Given the description of an element on the screen output the (x, y) to click on. 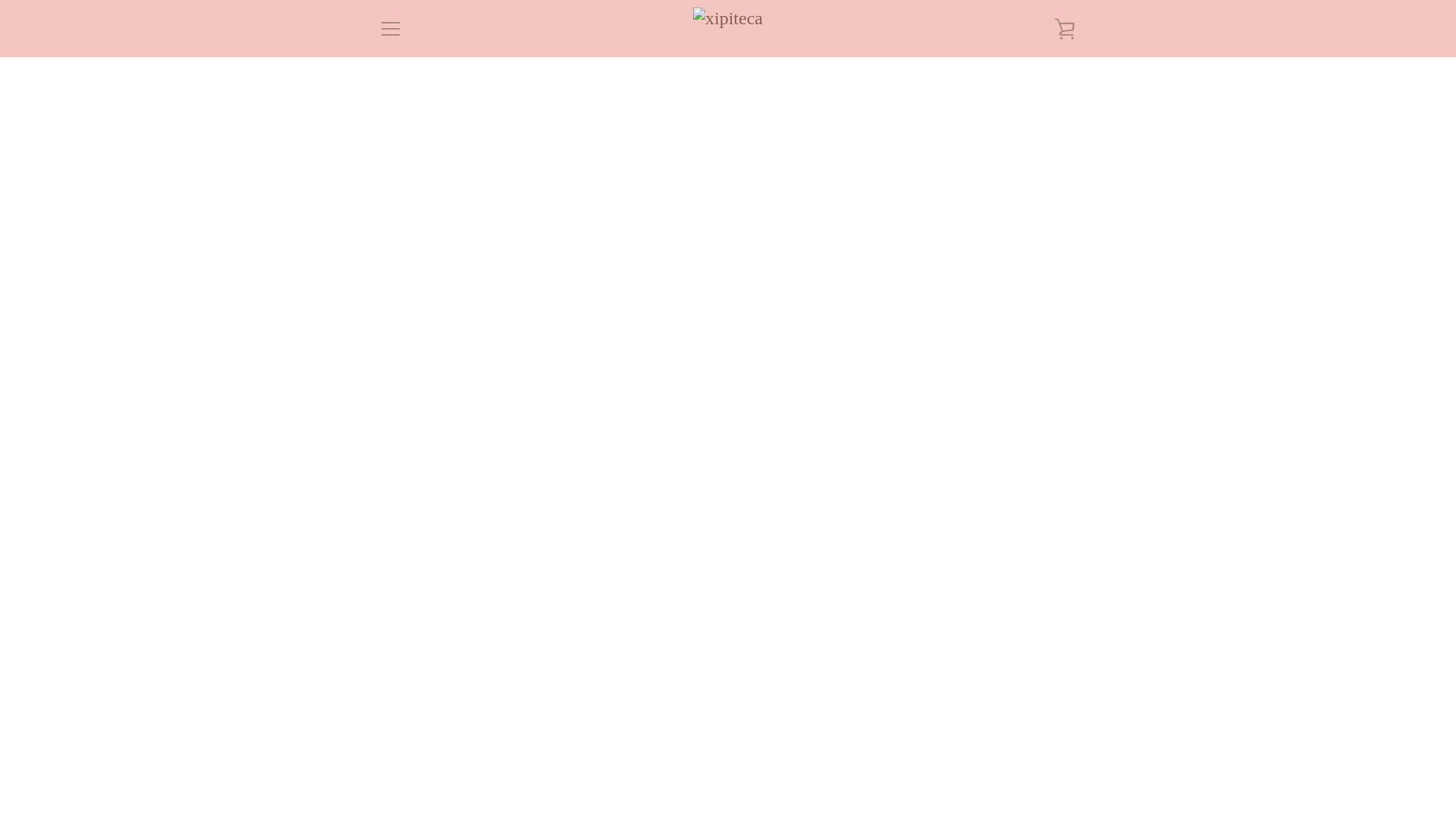
EXPAND NAVIGATION (390, 27)
VIEW CART (1065, 27)
